Given the description of an element on the screen output the (x, y) to click on. 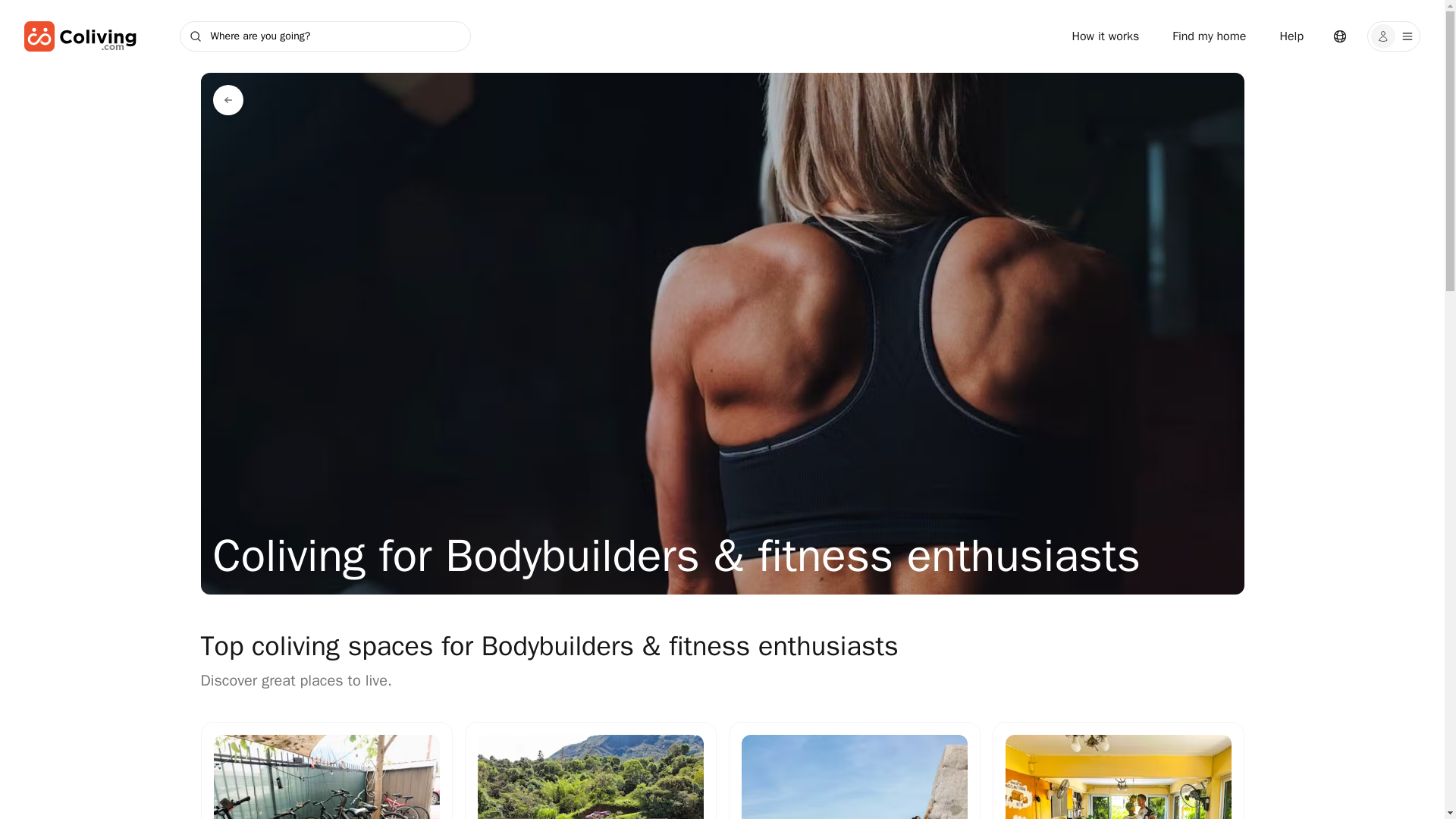
Coliving Communities (227, 100)
Help (1291, 36)
Coliving (80, 36)
Find my home (1208, 36)
8-Bed Apartment on Salita di Capo Ferro (854, 776)
How it works (1105, 36)
